Given the description of an element on the screen output the (x, y) to click on. 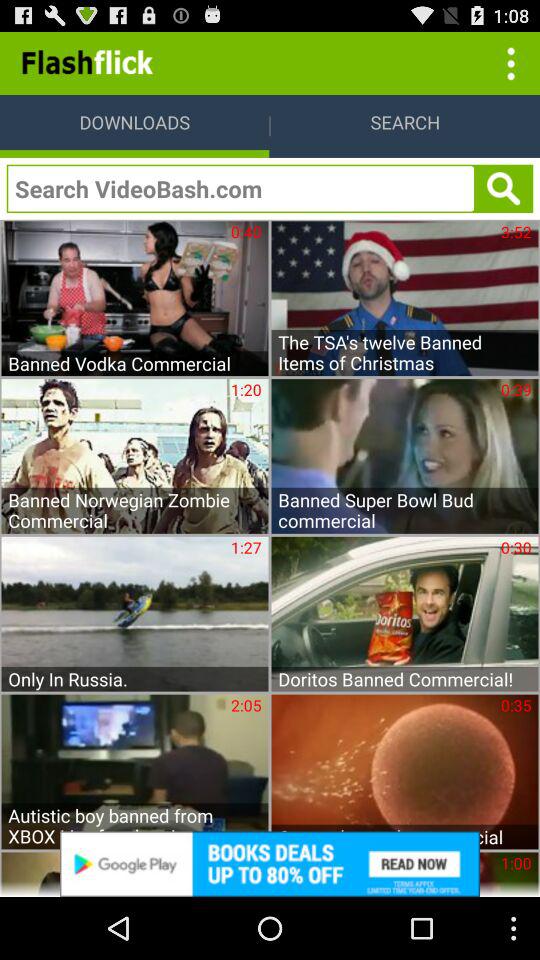
click on the text field (240, 188)
